Given the description of an element on the screen output the (x, y) to click on. 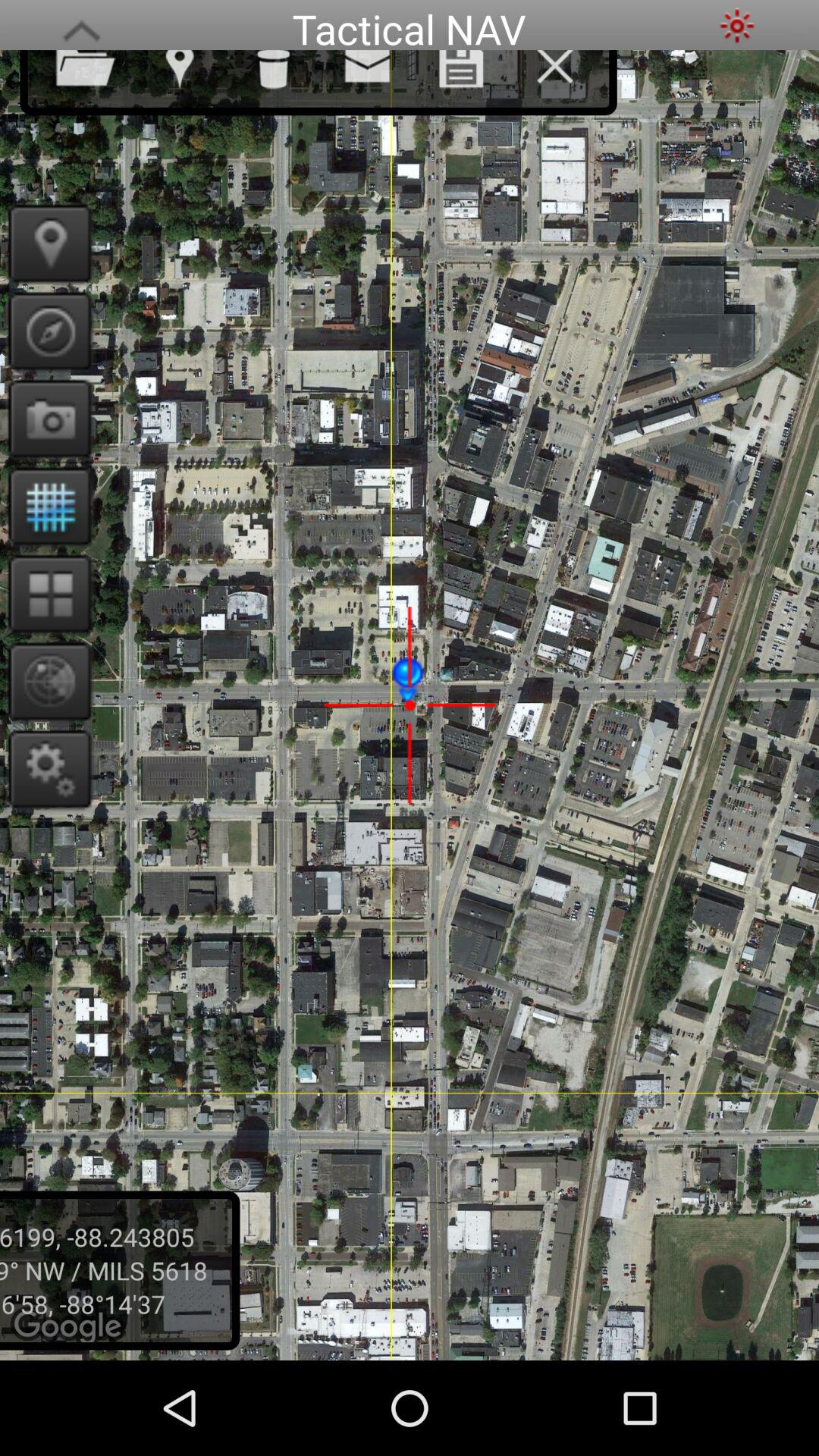
take piture (45, 418)
